Given the description of an element on the screen output the (x, y) to click on. 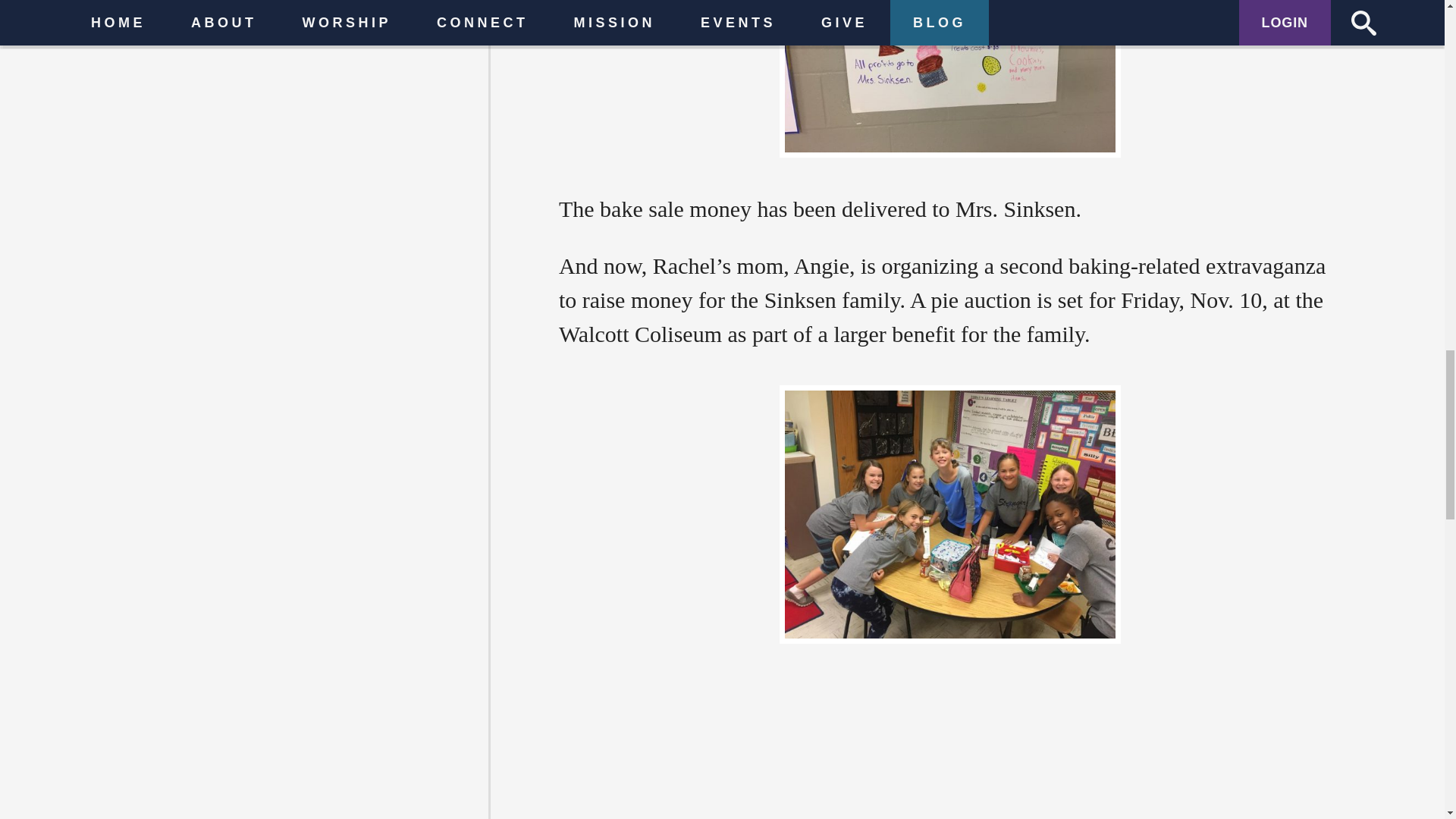
Post Comment (429, 250)
